Given the description of an element on the screen output the (x, y) to click on. 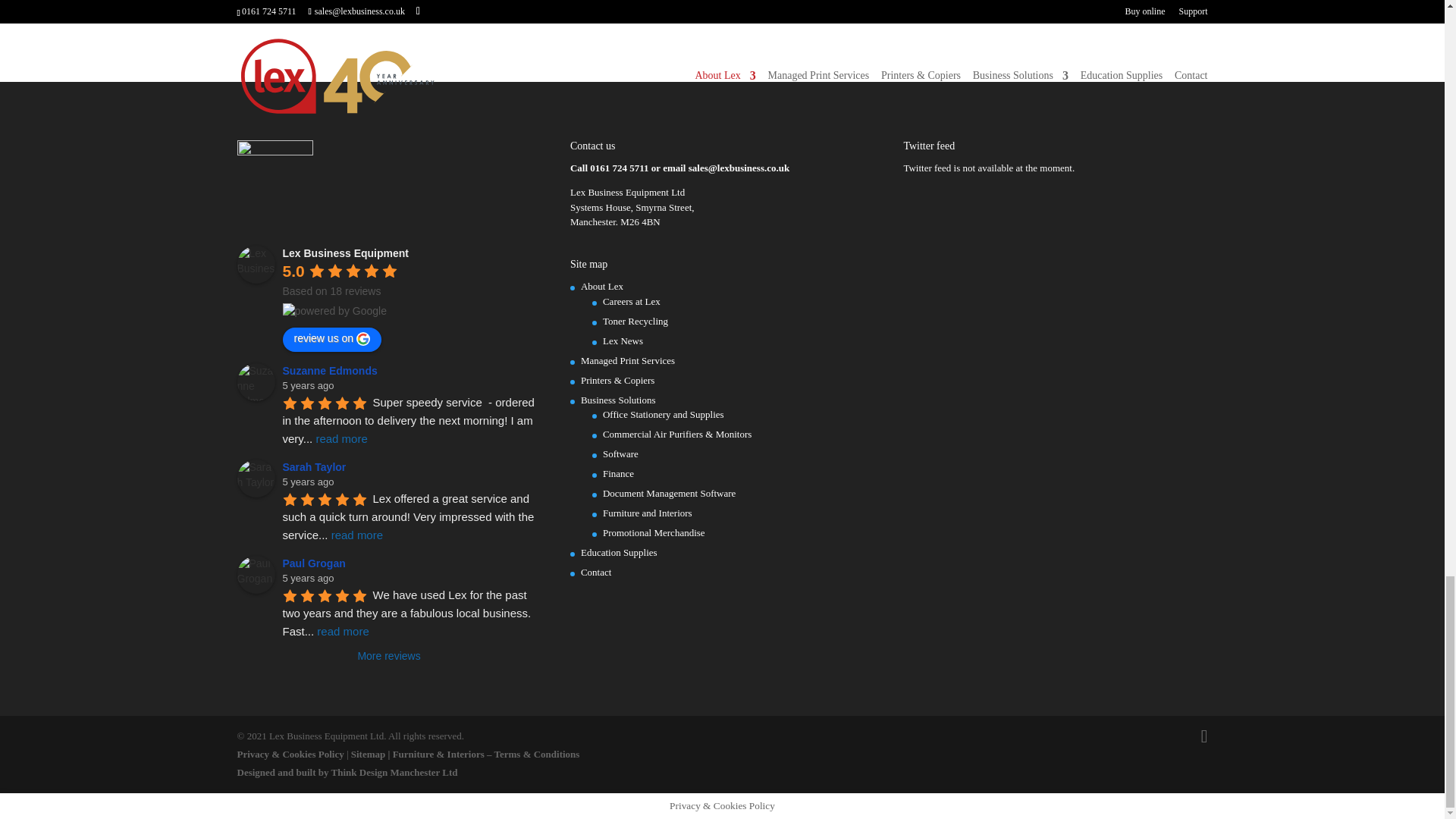
Suzanne Edmonds (331, 370)
Toner Recycling (635, 320)
About Lex (601, 285)
review us on (331, 339)
Lex Business Equipment (255, 264)
Lex News (622, 340)
Sarah Taylor (316, 467)
Managed Print Services (627, 360)
Careers at Lex (631, 301)
Lex Business Equipment (344, 253)
0161 724 5711 (618, 167)
powered by Google (333, 310)
More reviews (387, 655)
Sarah Taylor (255, 478)
Suzanne Edmonds (255, 382)
